Given the description of an element on the screen output the (x, y) to click on. 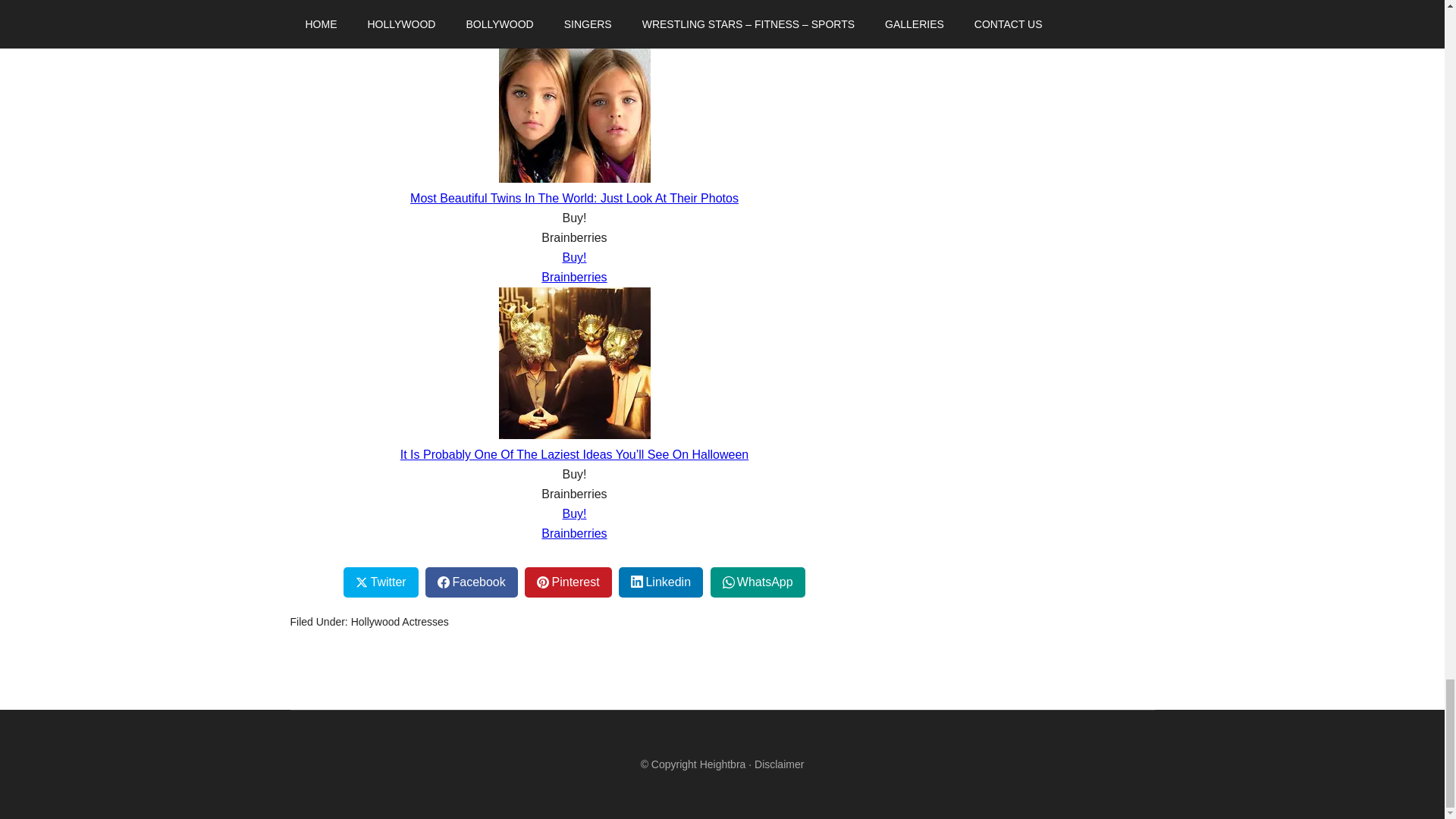
Facebook (470, 582)
Linkedin (660, 582)
Pinterest (567, 582)
Twitter (380, 582)
WhatsApp (757, 582)
Hollywood Actresses (399, 621)
